Given the description of an element on the screen output the (x, y) to click on. 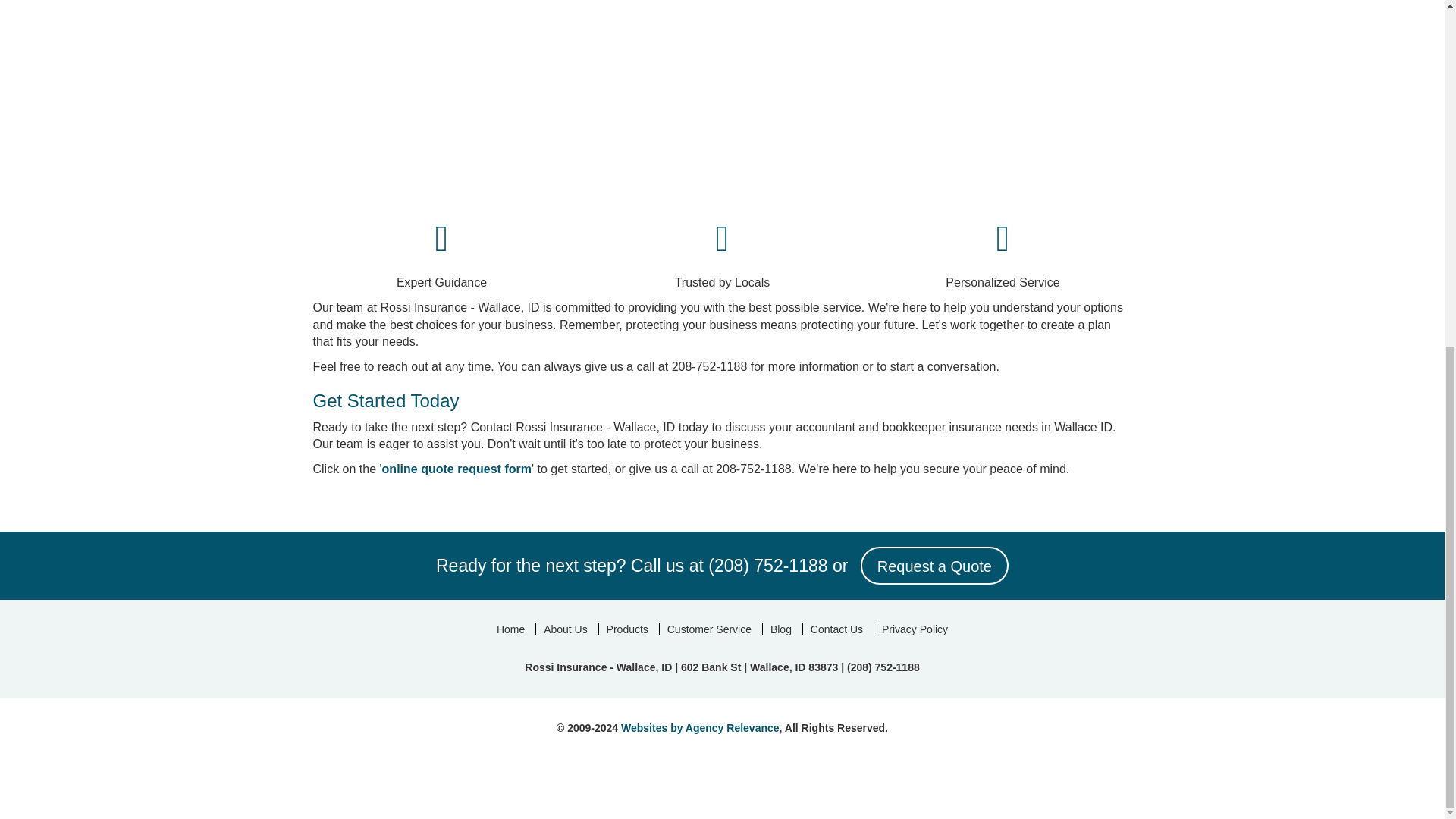
Blog (780, 629)
Privacy Policy (914, 629)
Contact Us (836, 629)
Home (510, 629)
online quote request form (456, 468)
Customer Service (708, 629)
About Us (565, 629)
Products (627, 629)
Request a Quote (934, 565)
Websites by Agency Relevance (699, 727)
